Given the description of an element on the screen output the (x, y) to click on. 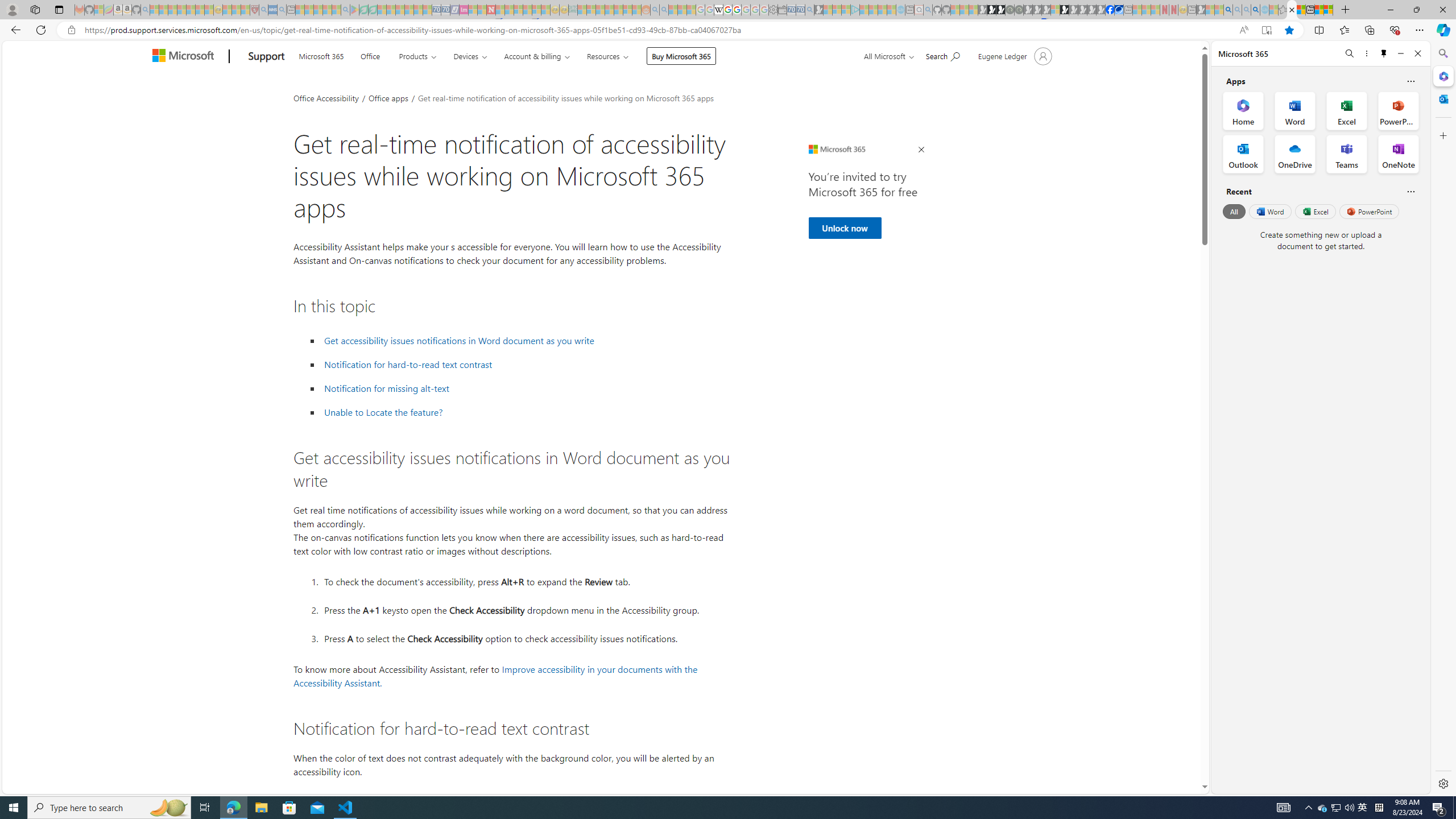
github - Search - Sleeping (927, 9)
Search for help (942, 54)
Cheap Hotels - Save70.com - Sleeping (445, 9)
